Given the description of an element on the screen output the (x, y) to click on. 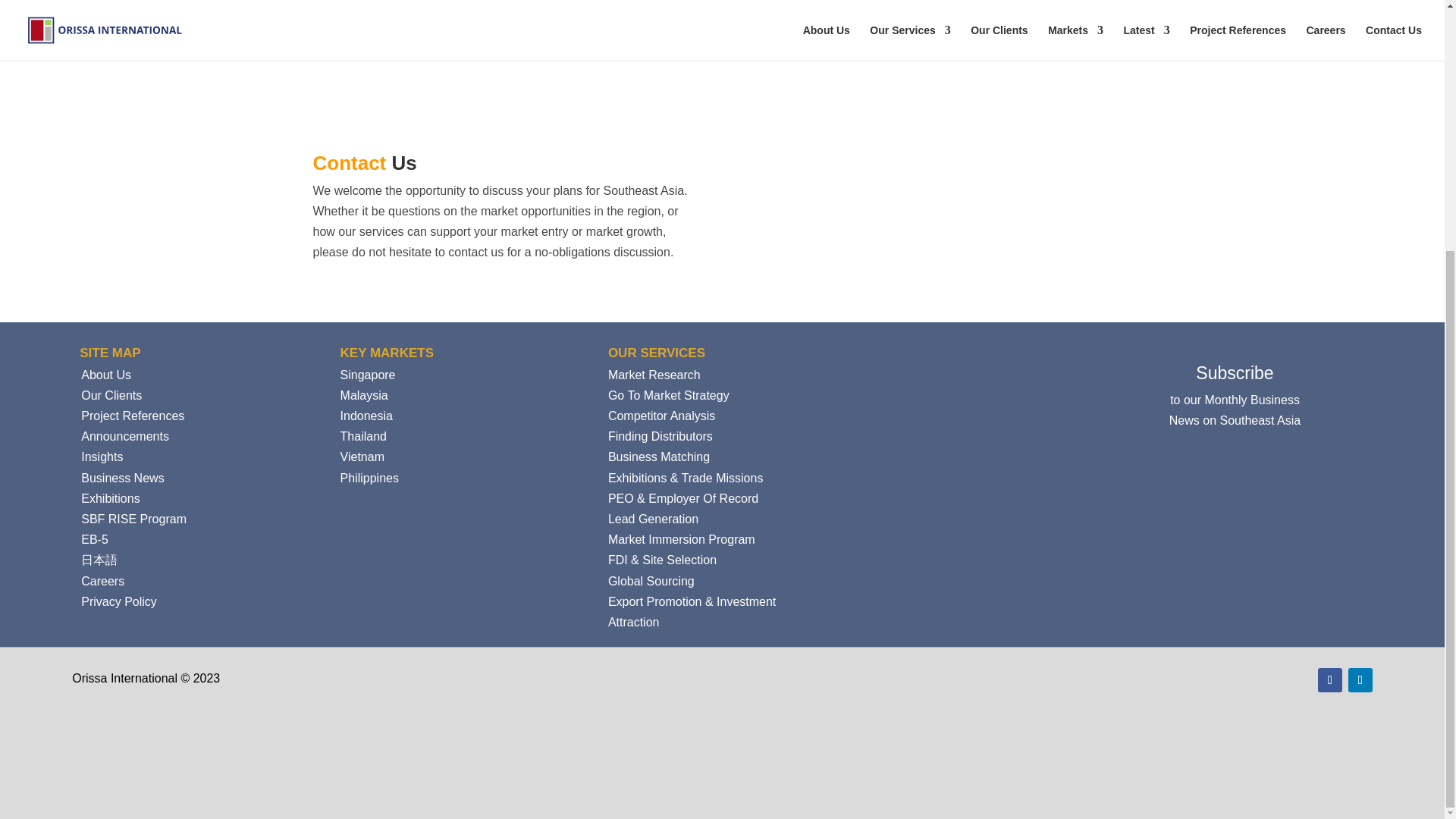
Project References (132, 415)
IBG-logo-2 (832, 733)
Announcements (124, 436)
Follow on LinkedIn (1360, 680)
About Us (106, 374)
Our Clients (111, 395)
Insights (101, 456)
Follow on Facebook (1329, 680)
